Given the description of an element on the screen output the (x, y) to click on. 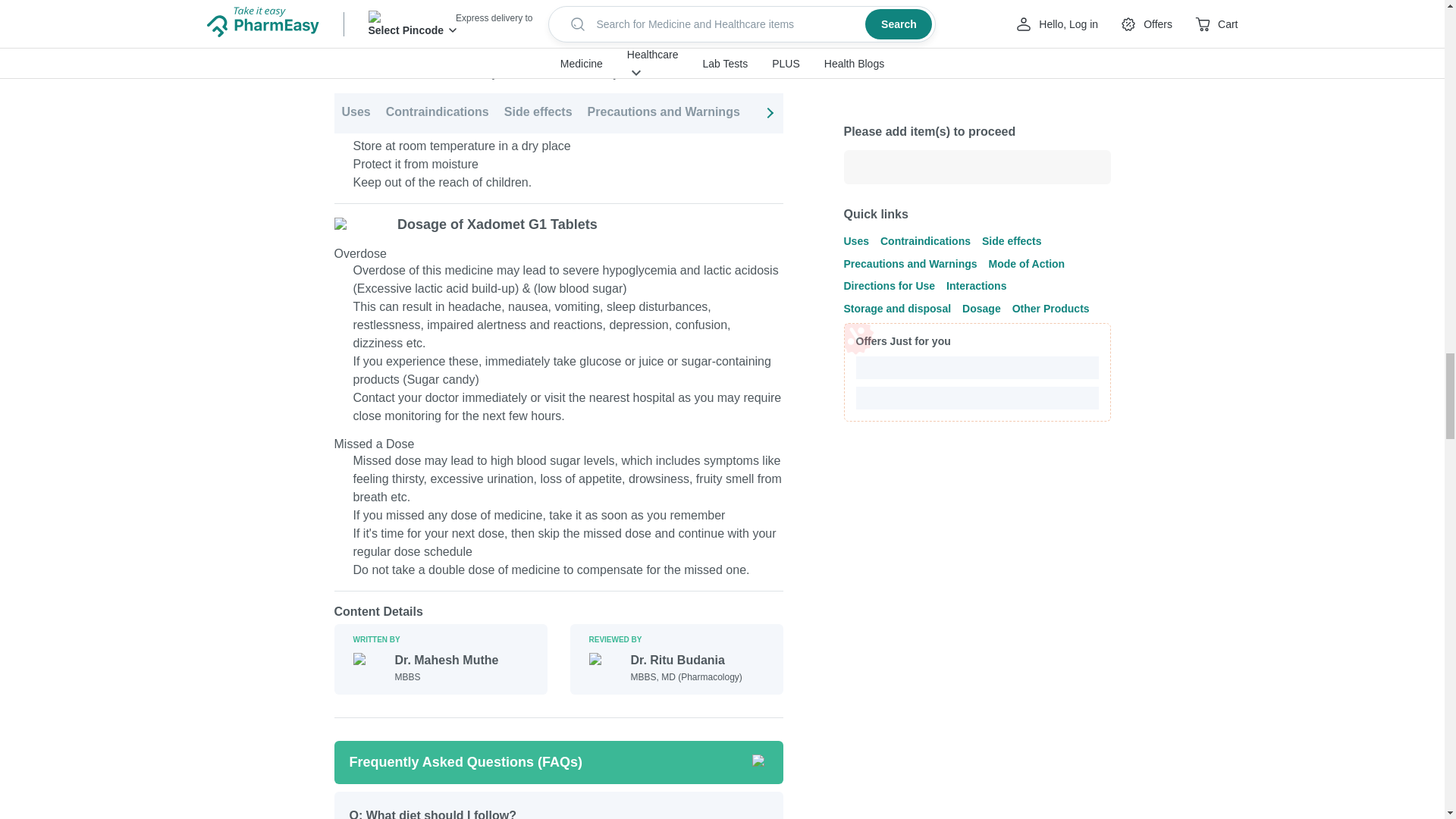
Dr. Mahesh Muthe (445, 659)
Dr. Ritu Budania (686, 659)
